Given the description of an element on the screen output the (x, y) to click on. 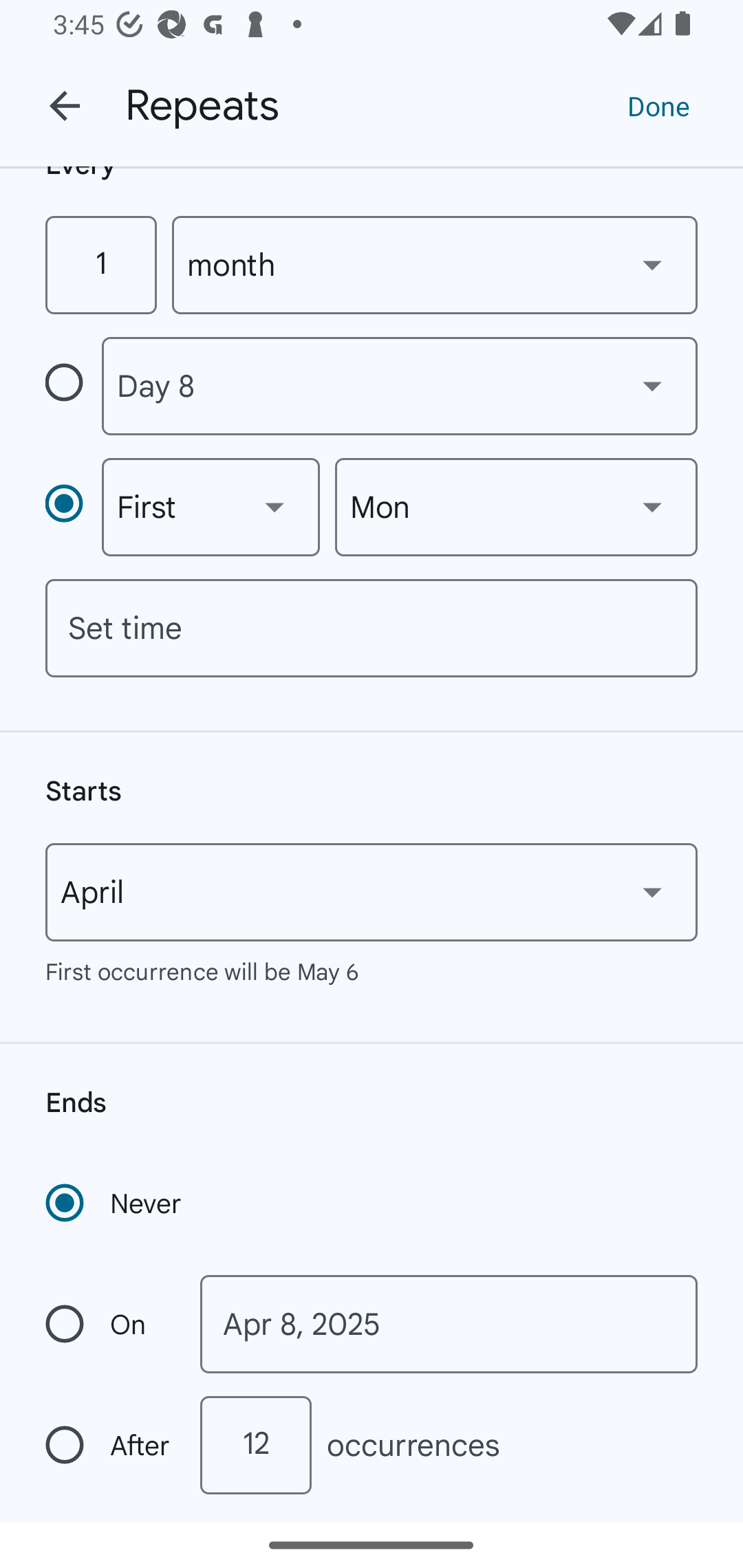
Back (64, 105)
Done (658, 105)
1 (100, 264)
month (434, 264)
Show dropdown menu (652, 264)
Day 8 (399, 386)
Show dropdown menu (652, 385)
Repeat monthly on a specific day of the month (73, 386)
First (210, 506)
Mon (516, 506)
Show dropdown menu (274, 505)
Show dropdown menu (652, 505)
Repeat monthly on a specific weekday (73, 506)
Set time (371, 627)
April (371, 891)
Show dropdown menu (652, 891)
Never Recurrence never ends (115, 1203)
Apr 8, 2025 (448, 1323)
On Recurrence ends on a specific date (109, 1323)
12 (255, 1444)
